Given the description of an element on the screen output the (x, y) to click on. 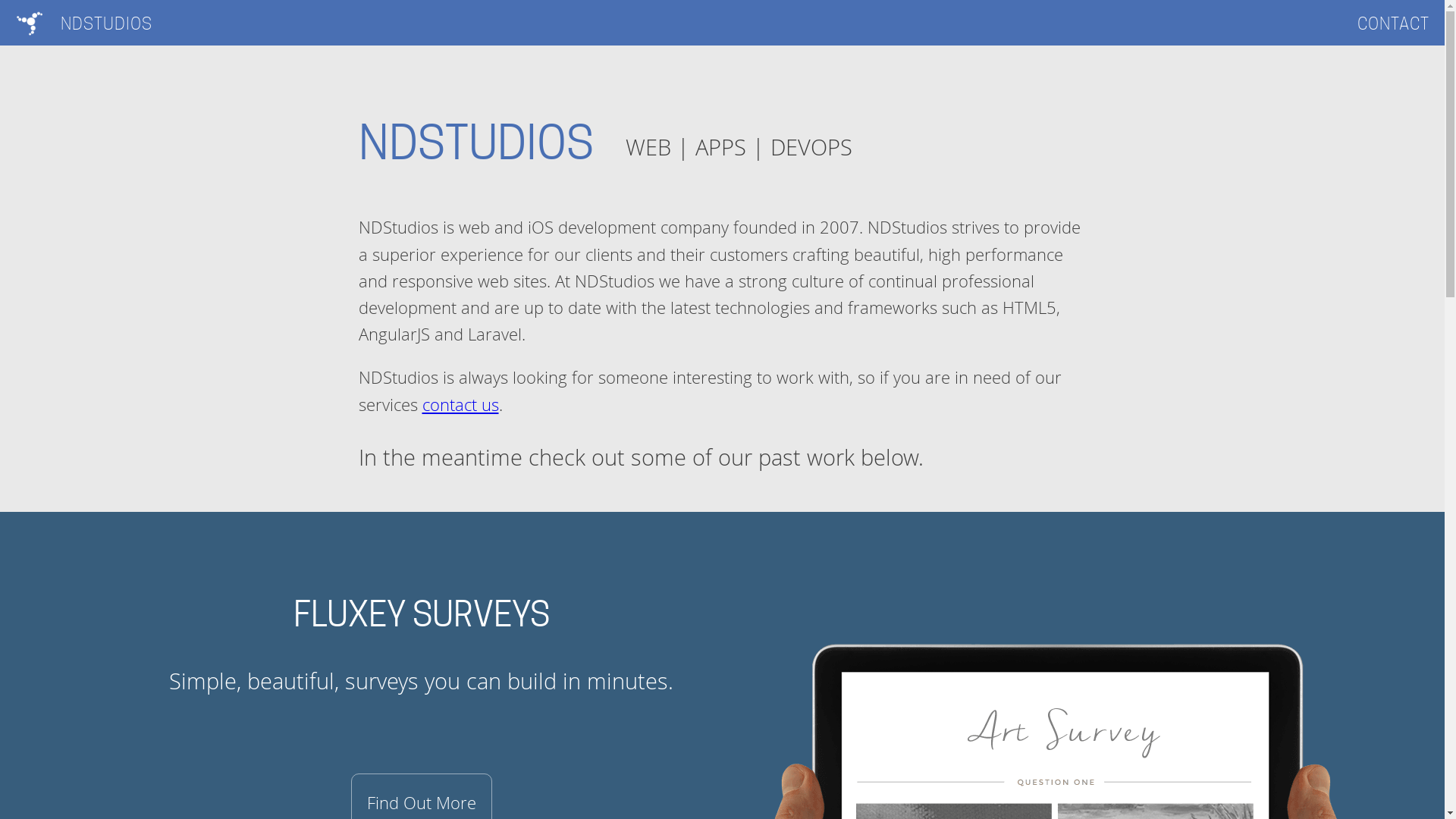
contact us Element type: text (459, 404)
